Given the description of an element on the screen output the (x, y) to click on. 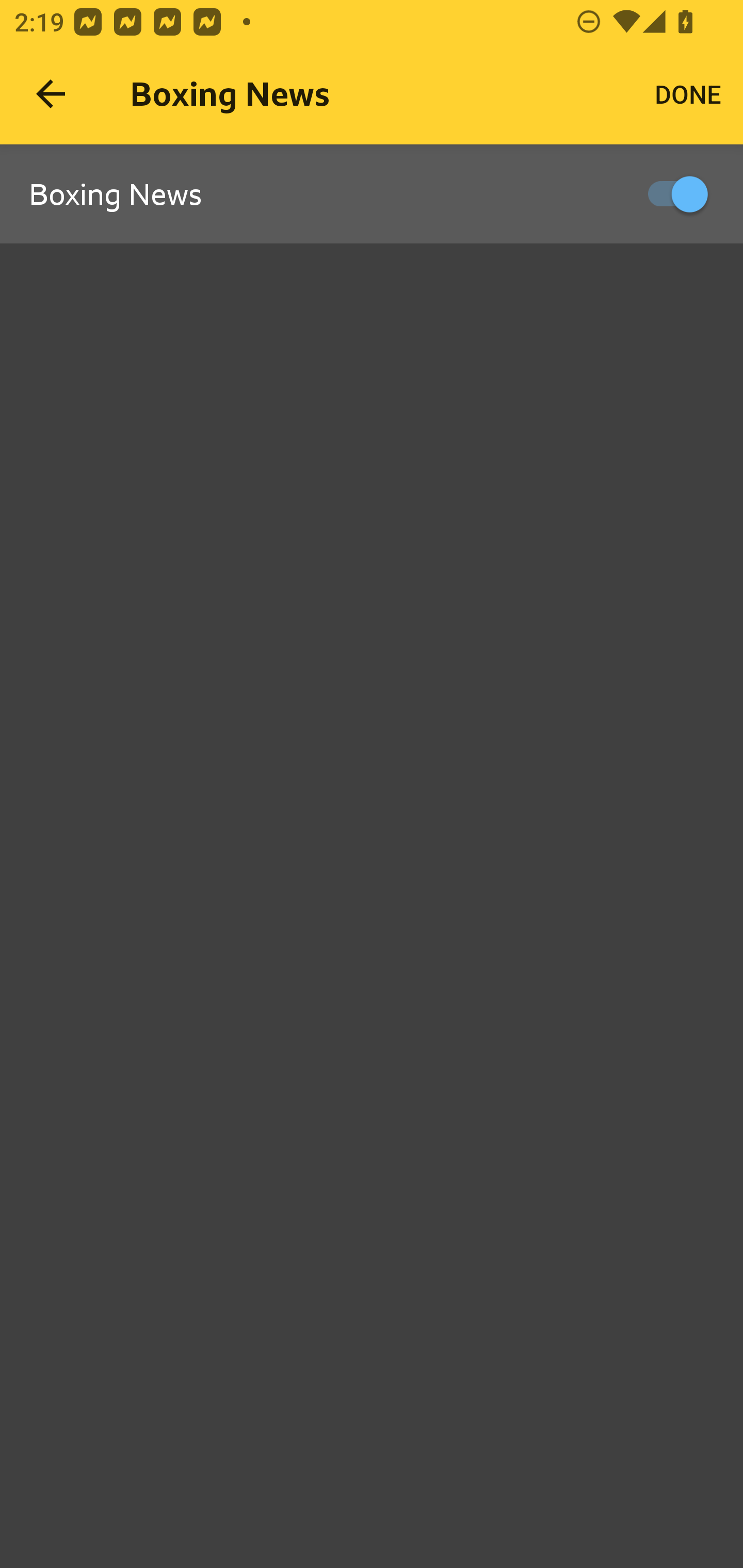
Navigate up (50, 93)
DONE (688, 93)
Boxing News, ON, Switch Boxing News (371, 195)
